Given the description of an element on the screen output the (x, y) to click on. 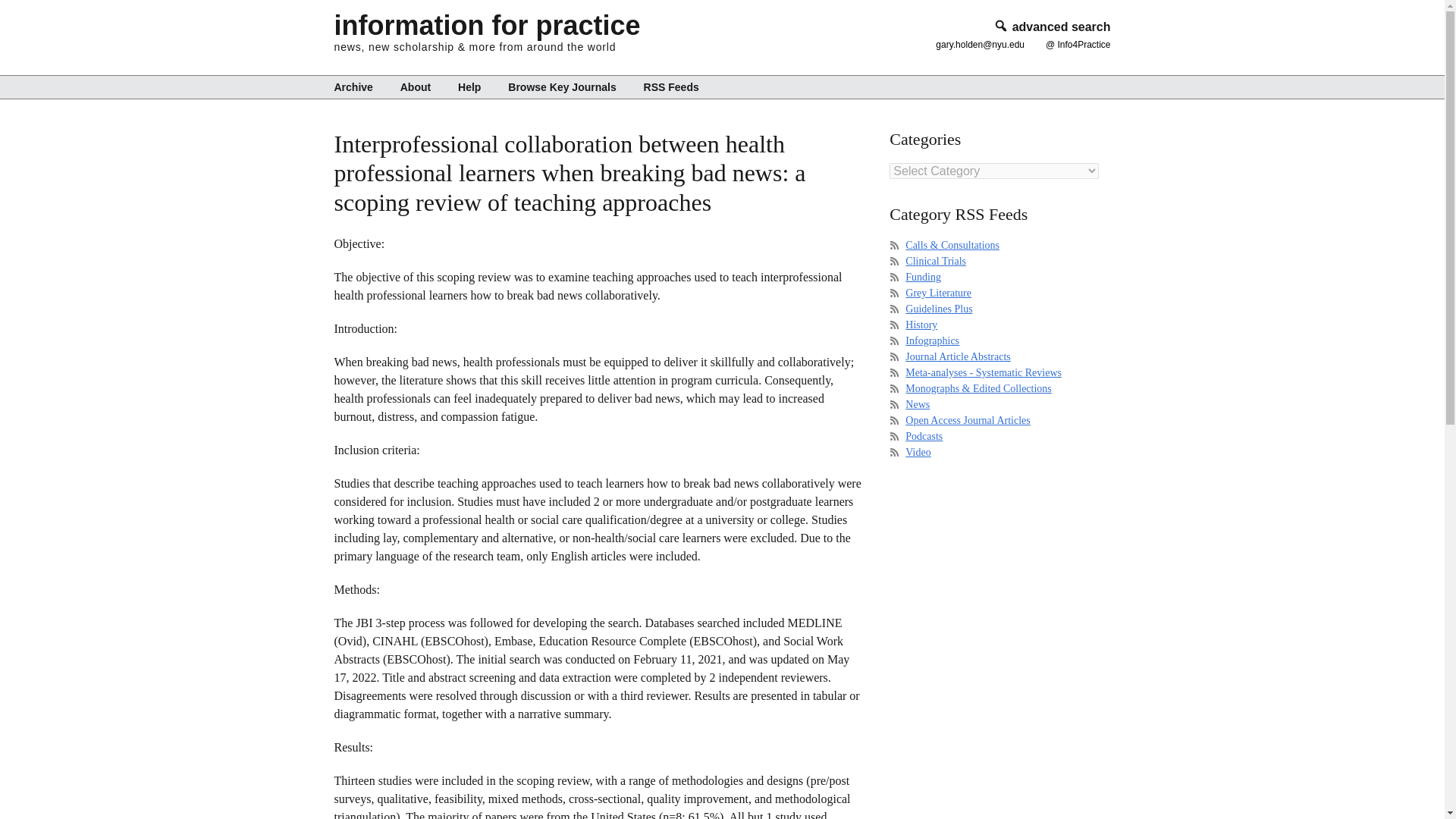
Grey Literature (938, 292)
RSS Feeds (664, 87)
News (917, 404)
Help (469, 87)
History (921, 324)
advanced search (1050, 26)
Clinical Trials (935, 260)
Meta-analyses - Systematic Reviews (983, 372)
Browse Key Journals (561, 87)
Journal Article Abstracts (957, 356)
Podcasts (923, 436)
About (415, 87)
Funding (922, 276)
